Given the description of an element on the screen output the (x, y) to click on. 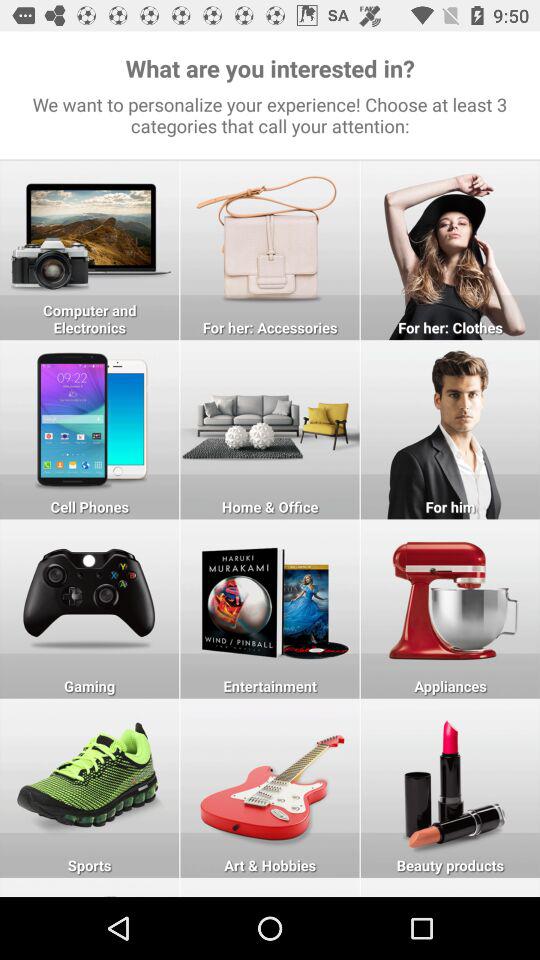
game symbol (89, 608)
